Given the description of an element on the screen output the (x, y) to click on. 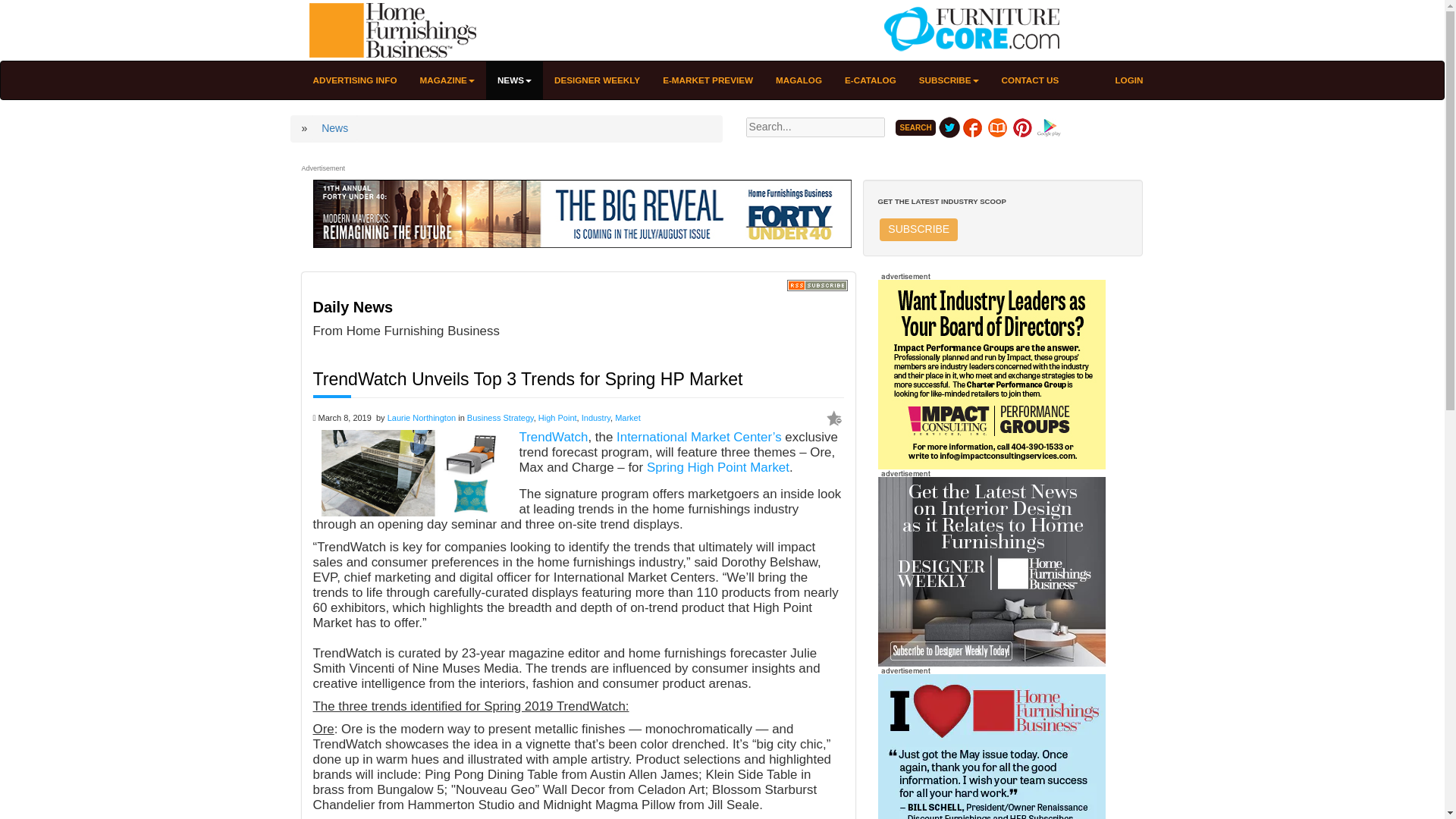
MAGAZINE (447, 80)
MAGALOG (798, 80)
SUBSCRIBE (918, 229)
Performance Groups (991, 373)
Laurie Northington (422, 417)
HFB Designer Weekly (991, 570)
High Point (557, 417)
Clear search text (882, 148)
ADVERTISING INFO (355, 80)
SUBSCRIBE (948, 80)
Business Strategy (500, 417)
FurnitureCore (968, 29)
E-MARKET PREVIEW (707, 80)
E-CATALOG (869, 80)
NEWS (514, 80)
